Given the description of an element on the screen output the (x, y) to click on. 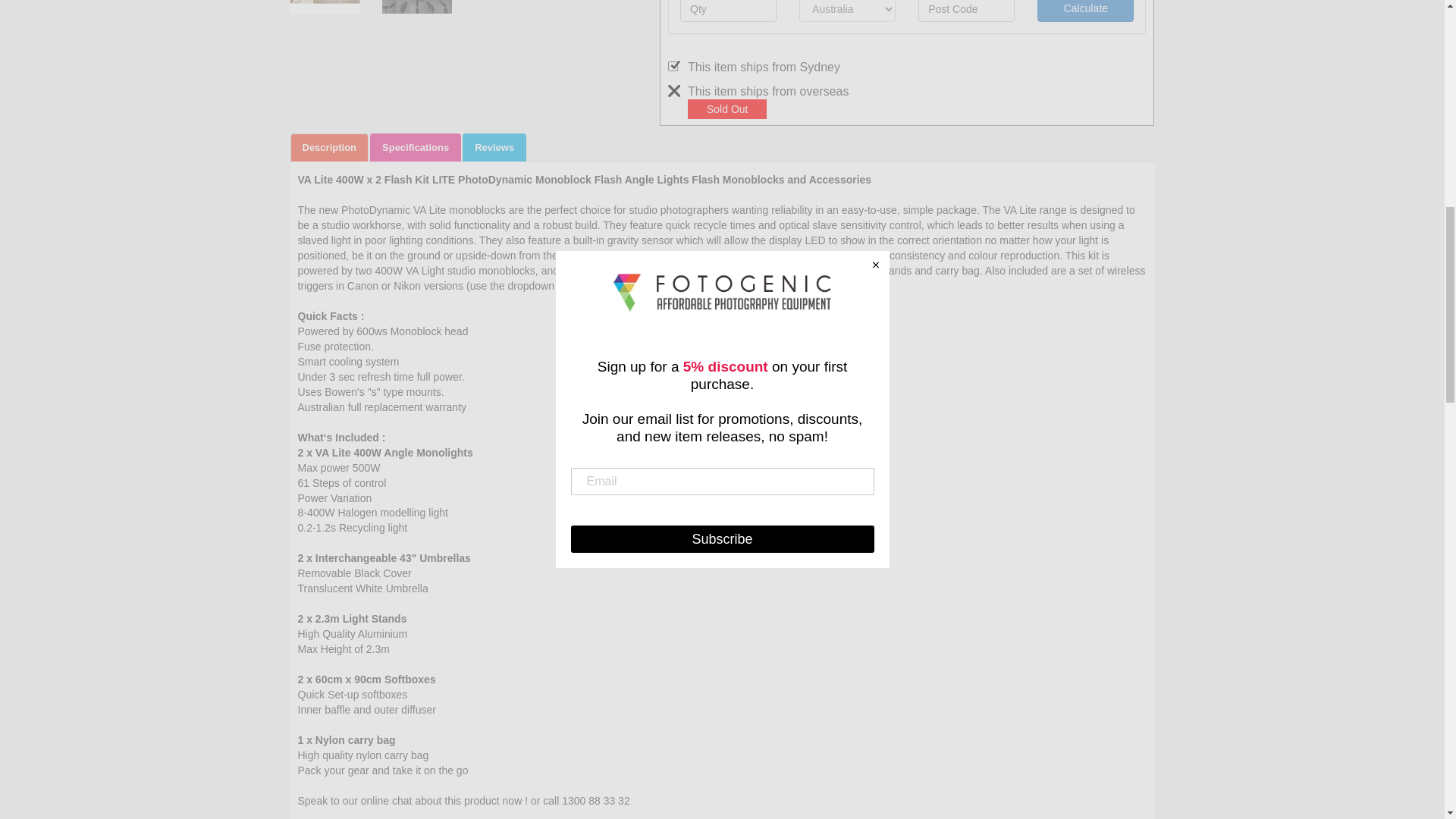
Large View (416, 6)
Large View (324, 6)
Calculate (1085, 11)
